Given the description of an element on the screen output the (x, y) to click on. 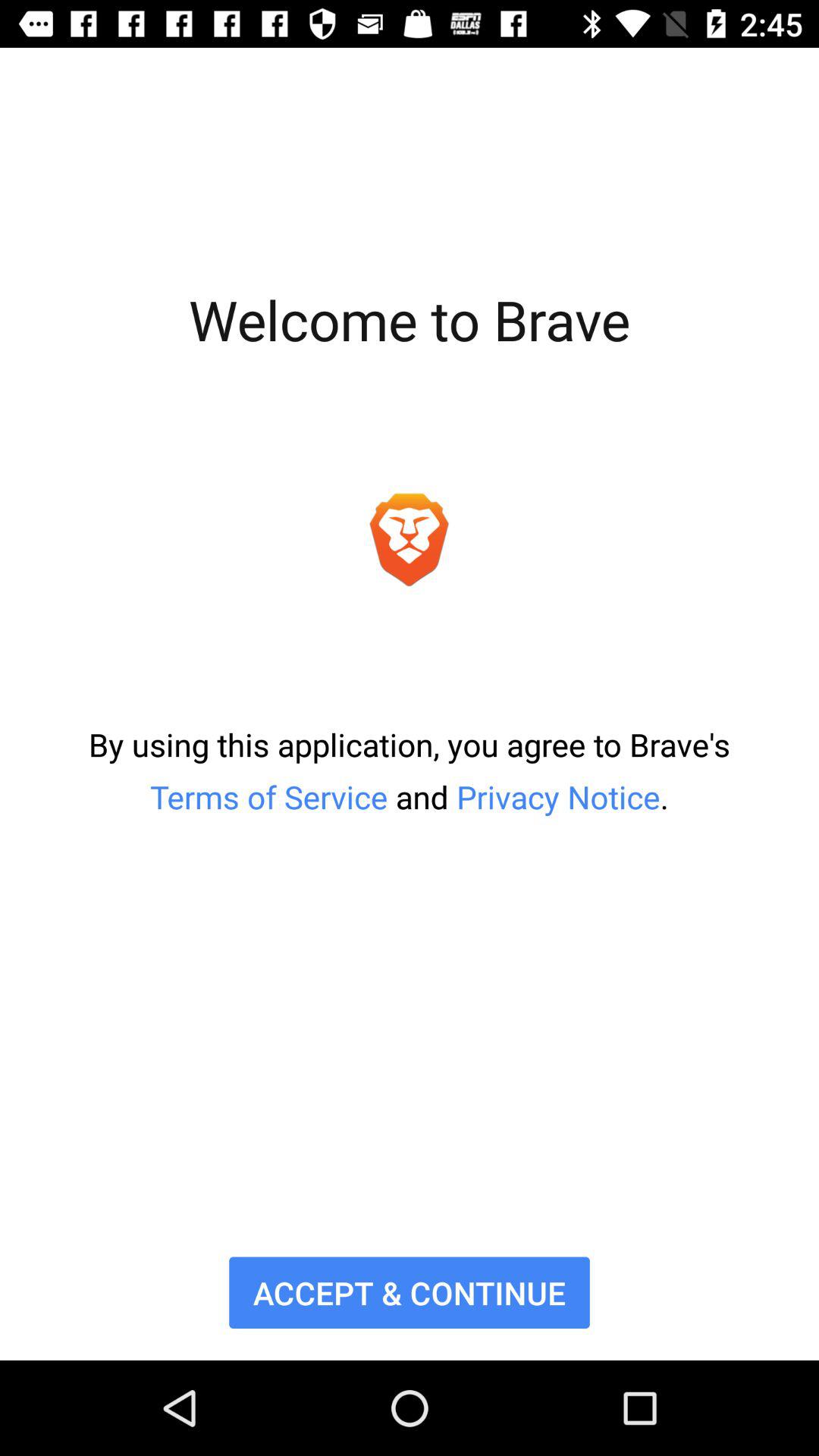
select accept & continue item (409, 1292)
